Given the description of an element on the screen output the (x, y) to click on. 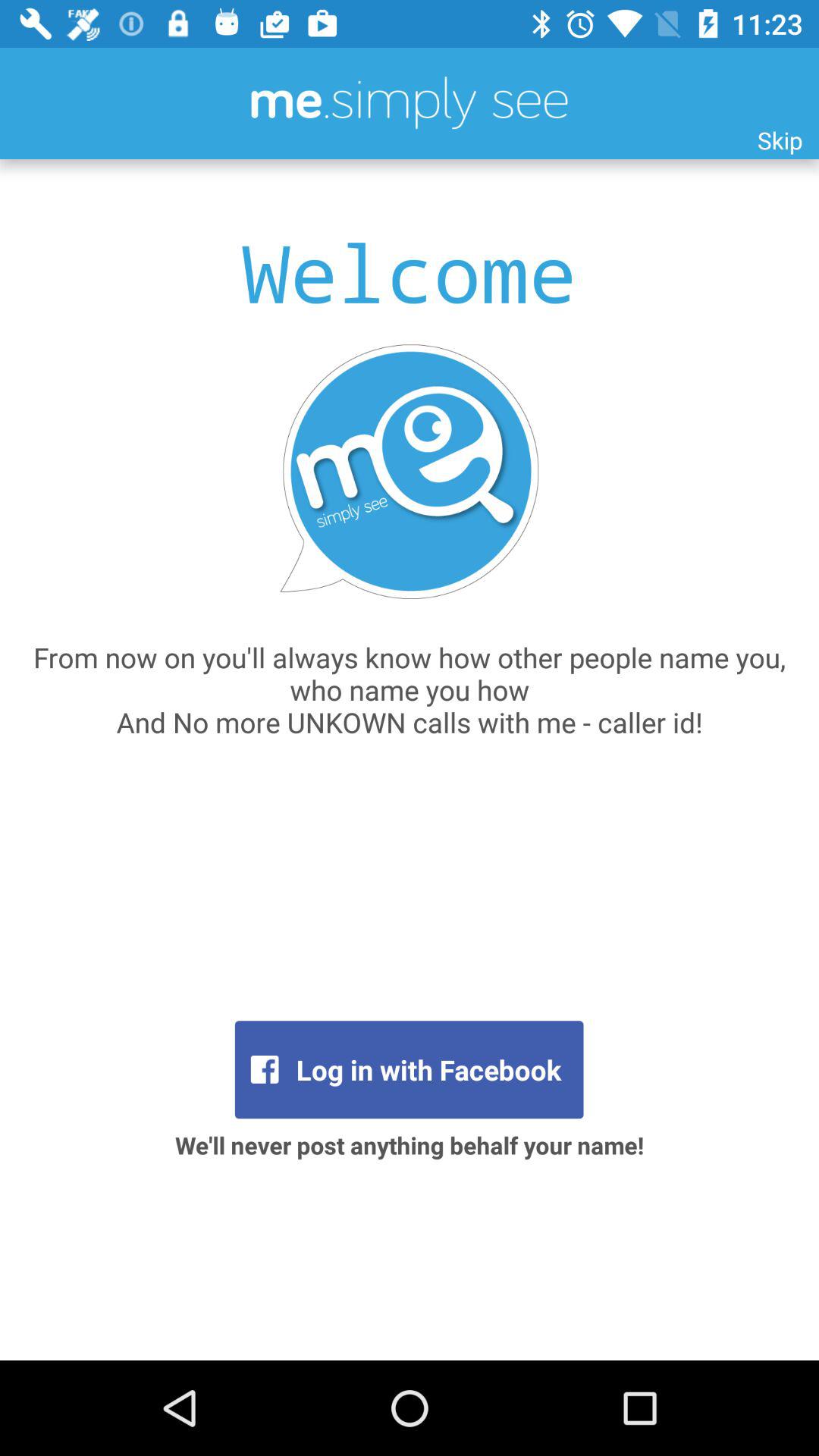
click item below from now on item (408, 1069)
